Given the description of an element on the screen output the (x, y) to click on. 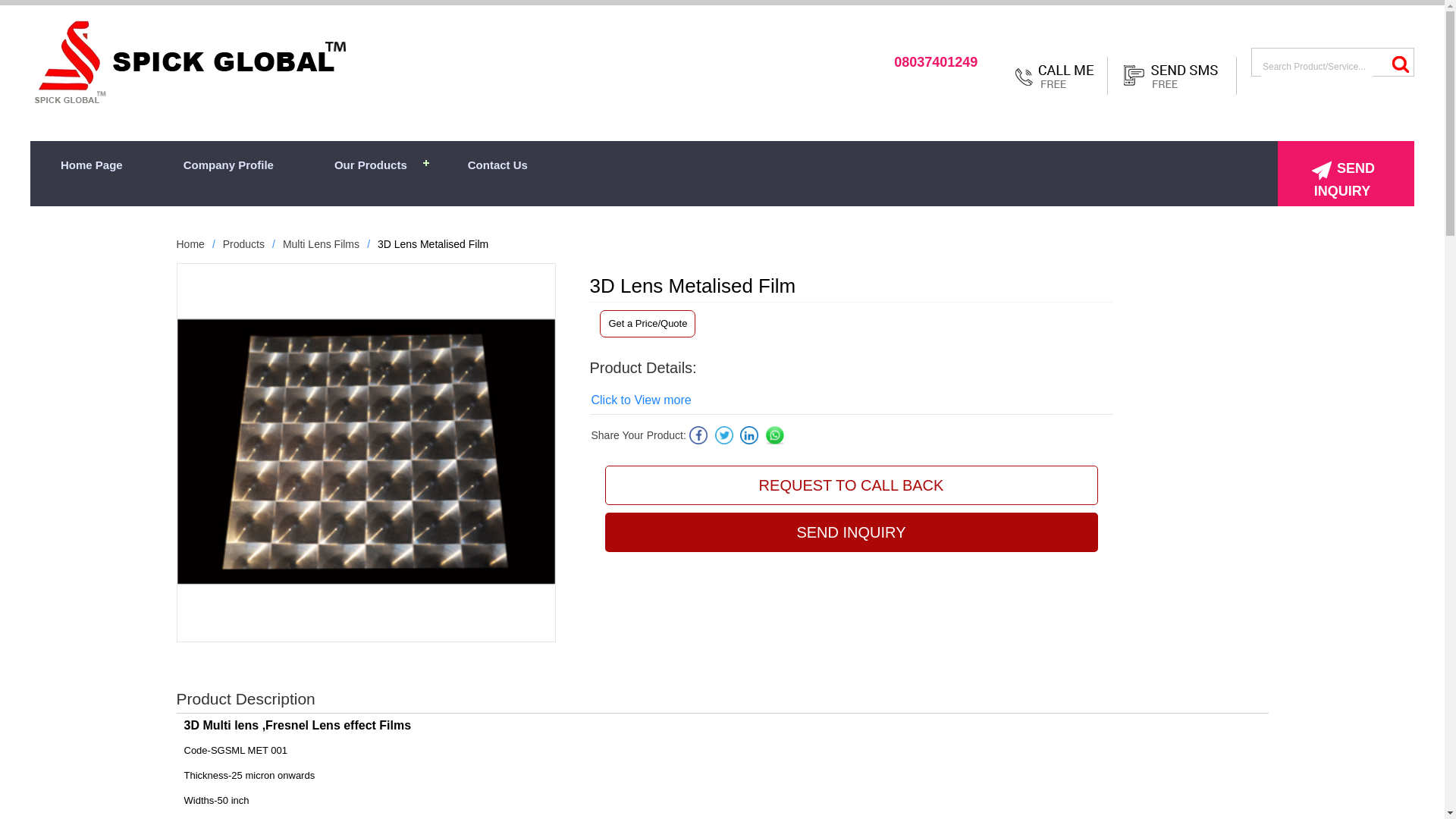
Home Page Element type: text (91, 164)
Our Products Element type: text (370, 164)
Company Profile Element type: text (228, 164)
REQUEST TO CALL BACK Element type: text (851, 485)
Home Element type: text (189, 244)
Multi Lens Films Element type: text (320, 244)
Click to View more Element type: text (641, 399)
Get a Price/Quote Element type: text (647, 323)
SEND INQUIRY Element type: text (851, 532)
Products Element type: text (243, 244)
SEND INQUIRY Element type: text (1345, 173)
Contact Us Element type: text (497, 164)
